Given the description of an element on the screen output the (x, y) to click on. 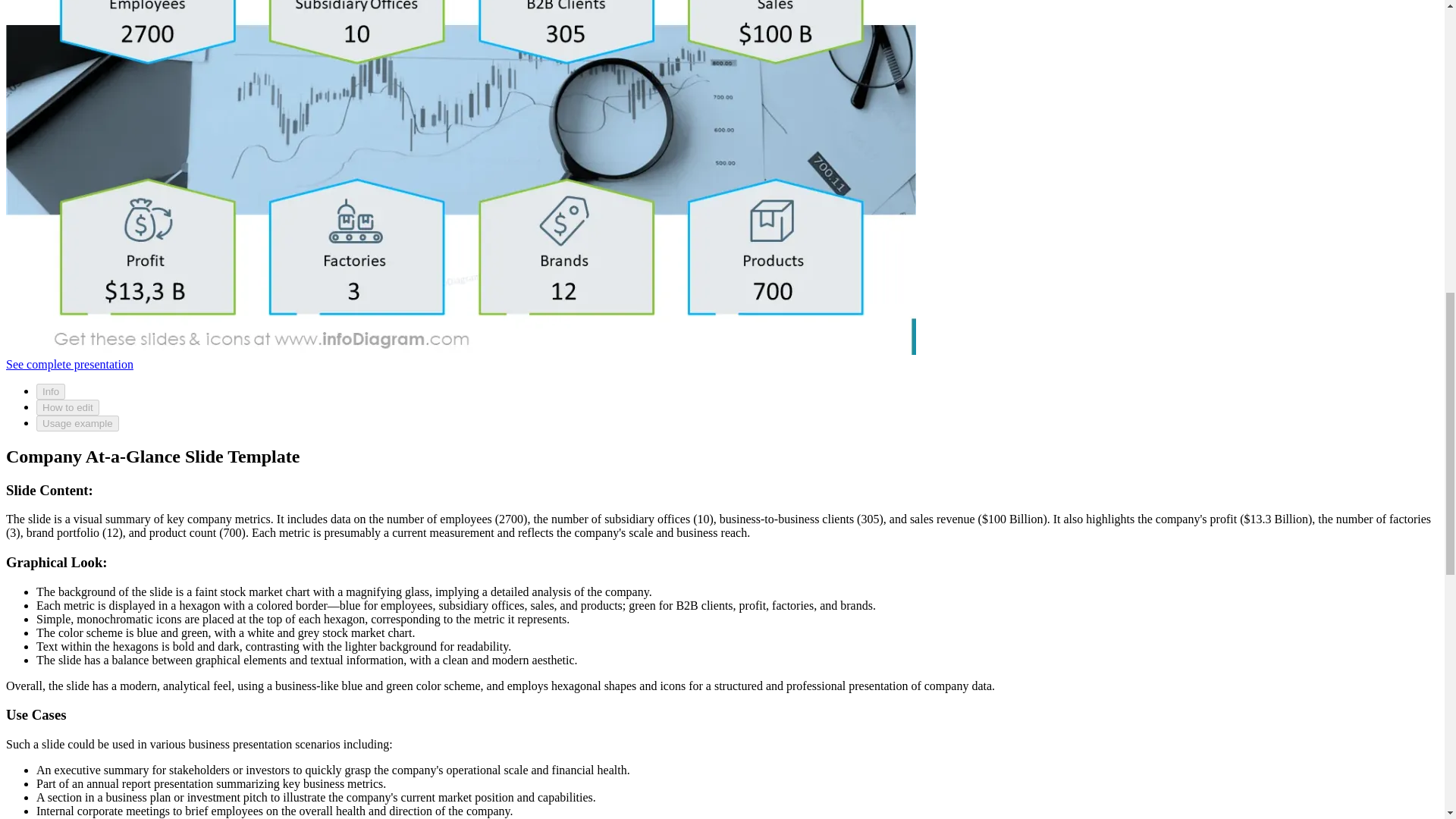
See complete presentation (69, 364)
Info (50, 391)
How to edit (67, 407)
Usage example (77, 423)
